Given the description of an element on the screen output the (x, y) to click on. 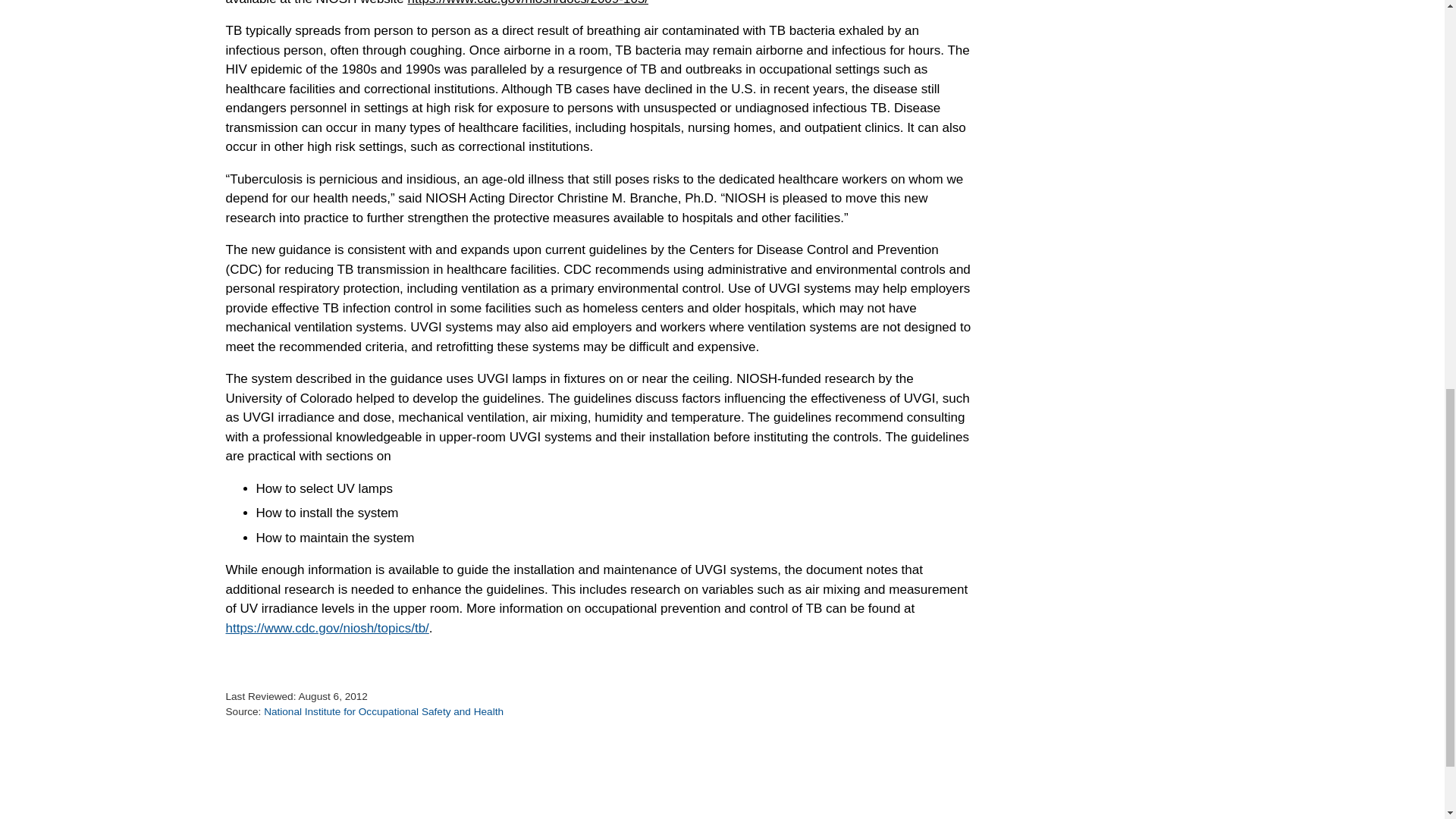
National Institute for Occupational Safety and Health (383, 711)
